Given the description of an element on the screen output the (x, y) to click on. 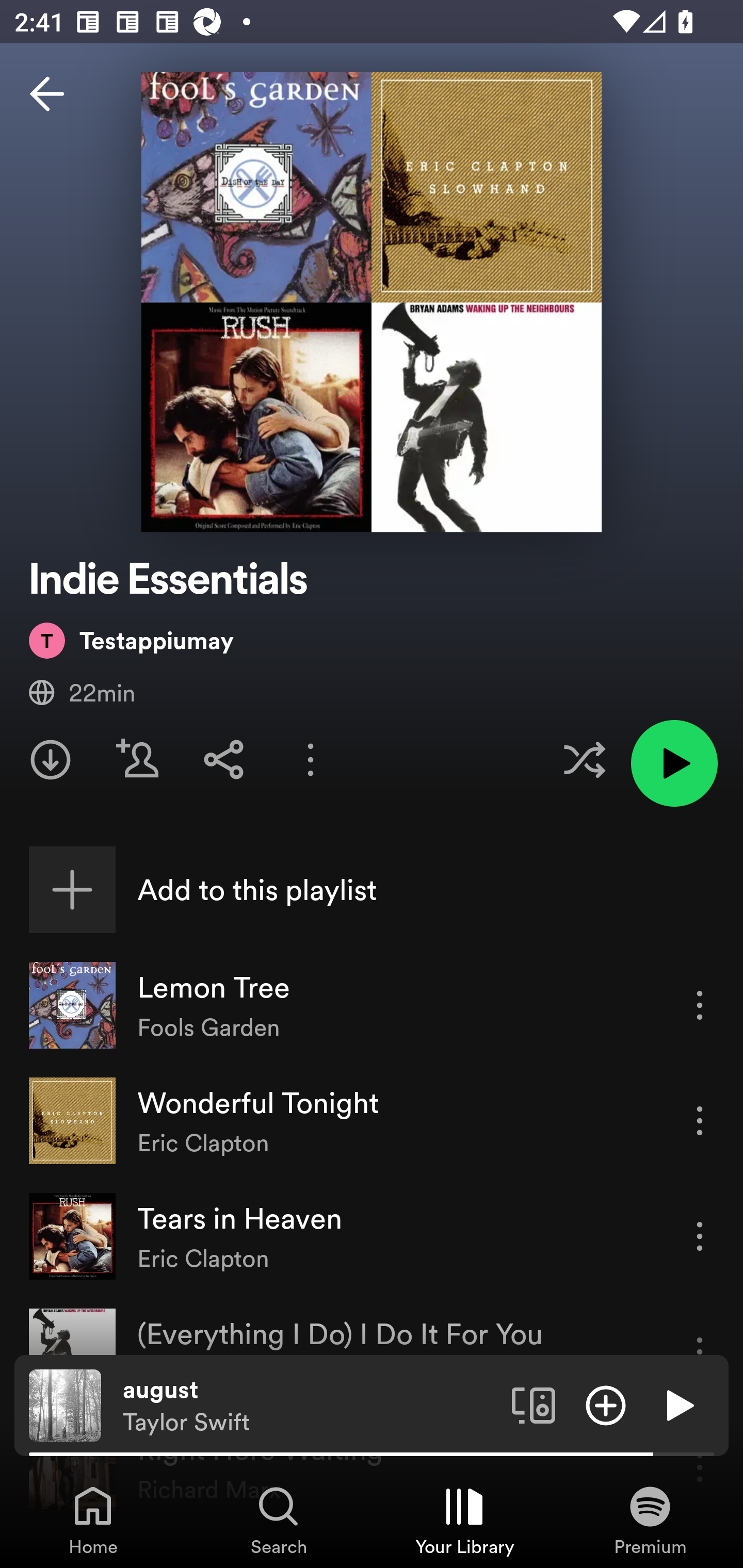
Back (46, 93)
Testappiumay (131, 640)
Download (50, 759)
Invite Friends for playlist (136, 759)
More options for playlist Indie Essentials (310, 759)
Enable shuffle for this playlist (583, 759)
Play playlist (674, 763)
Add to this playlist (371, 889)
More options for song Lemon Tree (699, 1004)
More options for song Wonderful Tonight (699, 1120)
More options for song Tears in Heaven (699, 1236)
august Taylor Swift (309, 1405)
The cover art of the currently playing track (64, 1404)
Connect to a device. Opens the devices menu (533, 1404)
Add item (605, 1404)
Play (677, 1404)
Home, Tab 1 of 4 Home Home (92, 1519)
Search, Tab 2 of 4 Search Search (278, 1519)
Your Library, Tab 3 of 4 Your Library Your Library (464, 1519)
Premium, Tab 4 of 4 Premium Premium (650, 1519)
